Given the description of an element on the screen output the (x, y) to click on. 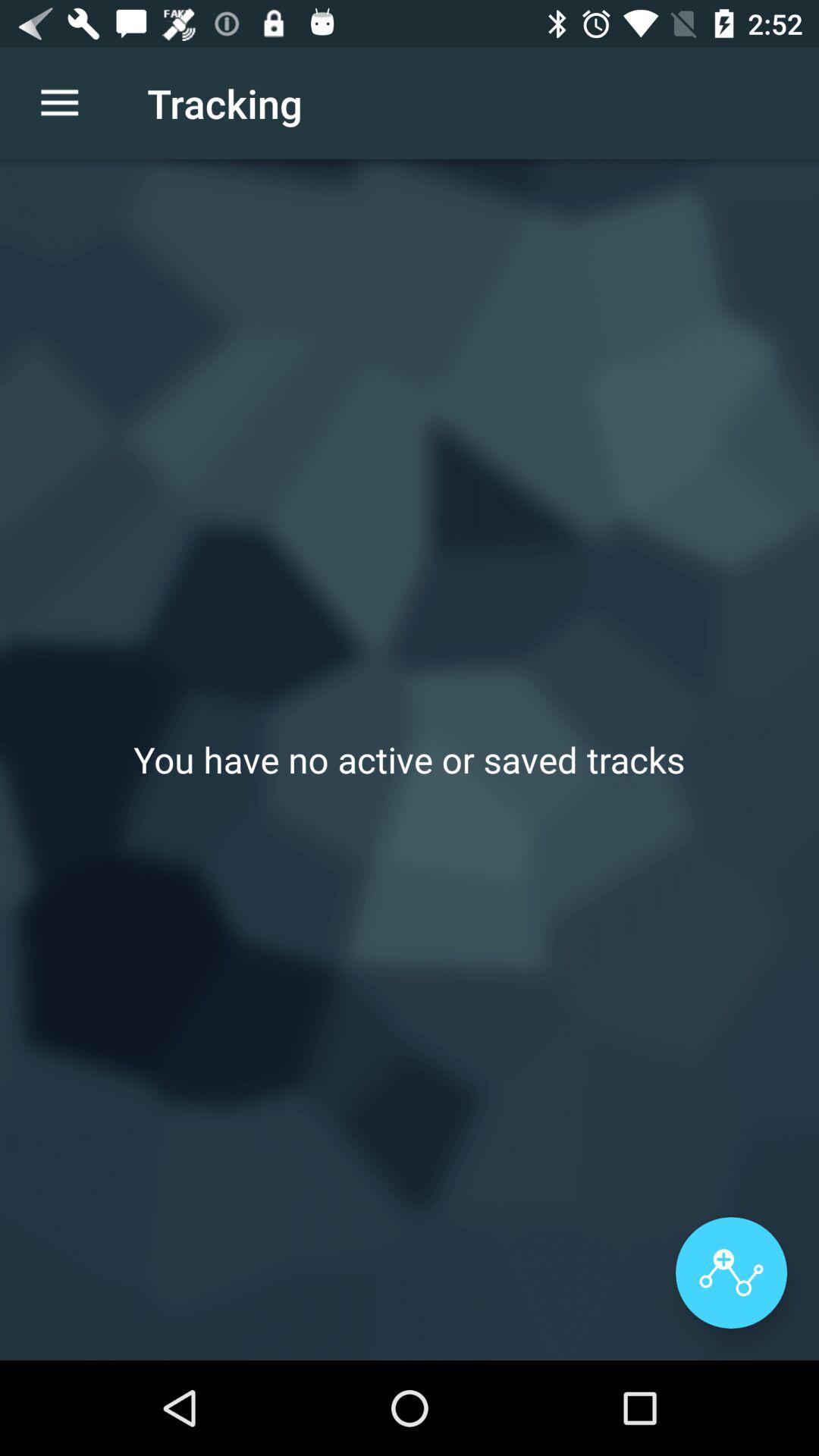
turn off the item below you have no (731, 1272)
